Given the description of an element on the screen output the (x, y) to click on. 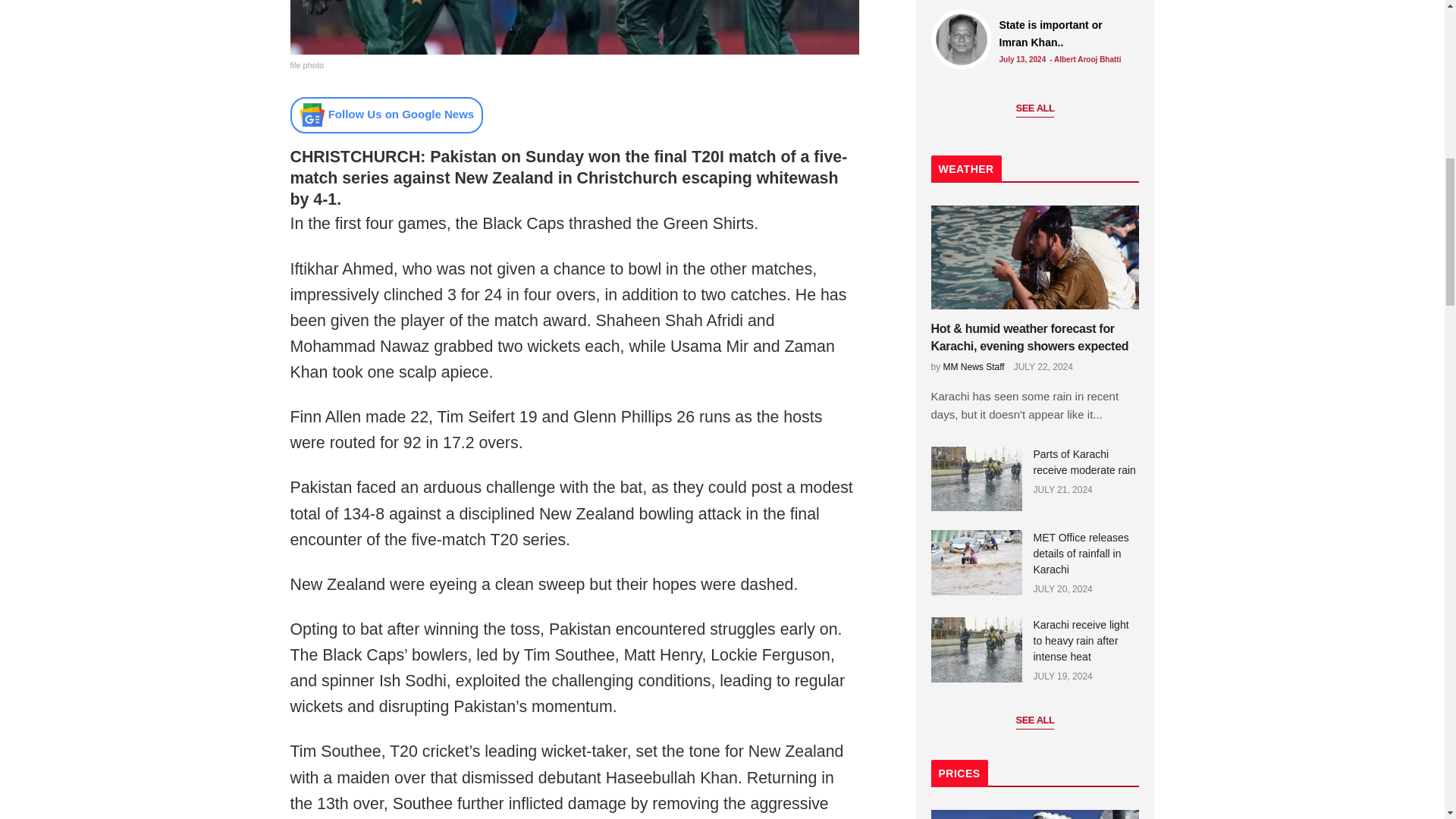
State is important or Imran Khan.. (961, 39)
State is important or Imran Khan.. (1065, 33)
